Given the description of an element on the screen output the (x, y) to click on. 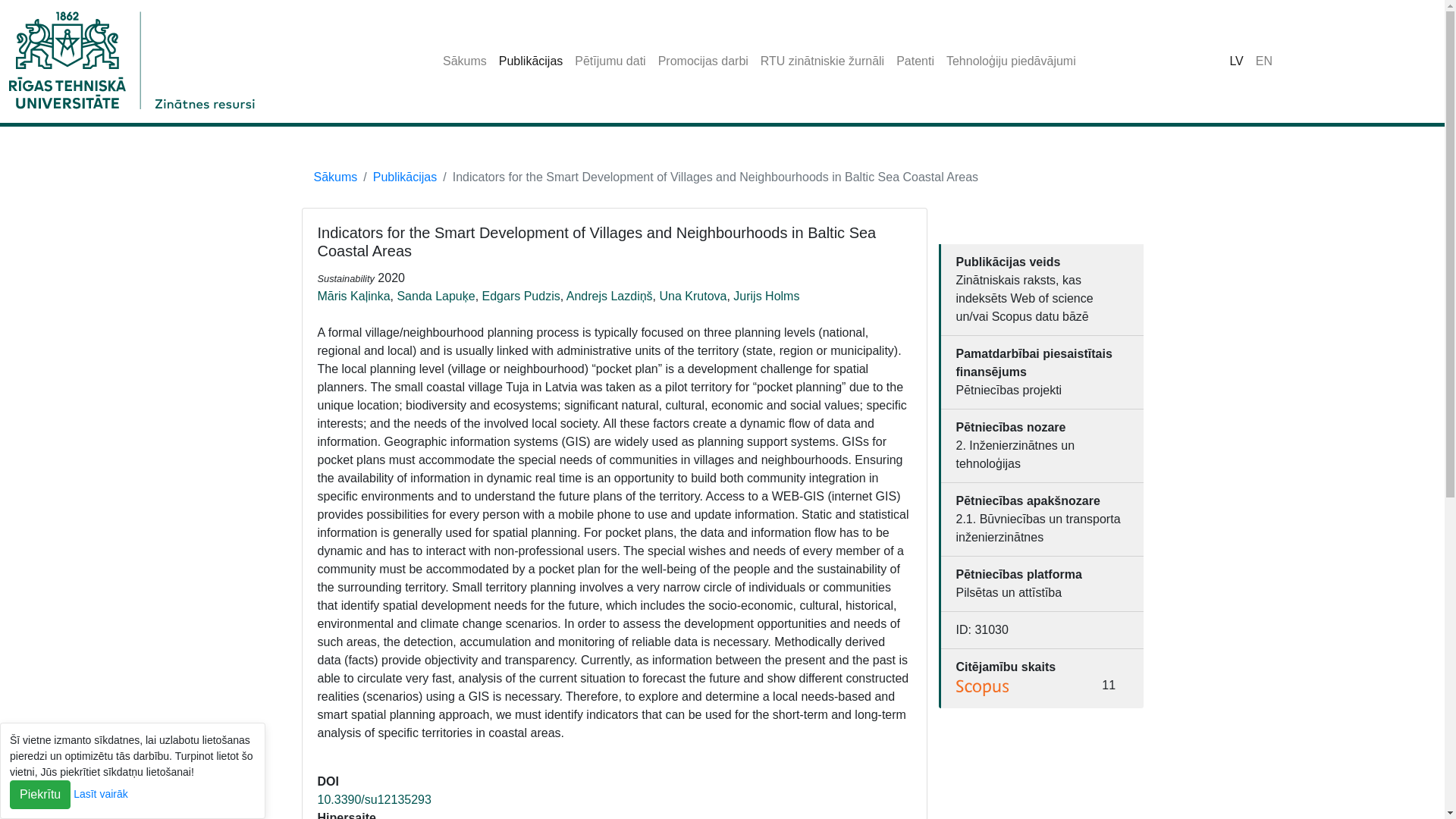
Promocijas darbi (703, 60)
Una Krutova (692, 295)
Jurijs Holms (766, 295)
Edgars Pudzis (520, 295)
Scopus (982, 687)
Patenti (914, 60)
EN (1263, 60)
